Given the description of an element on the screen output the (x, y) to click on. 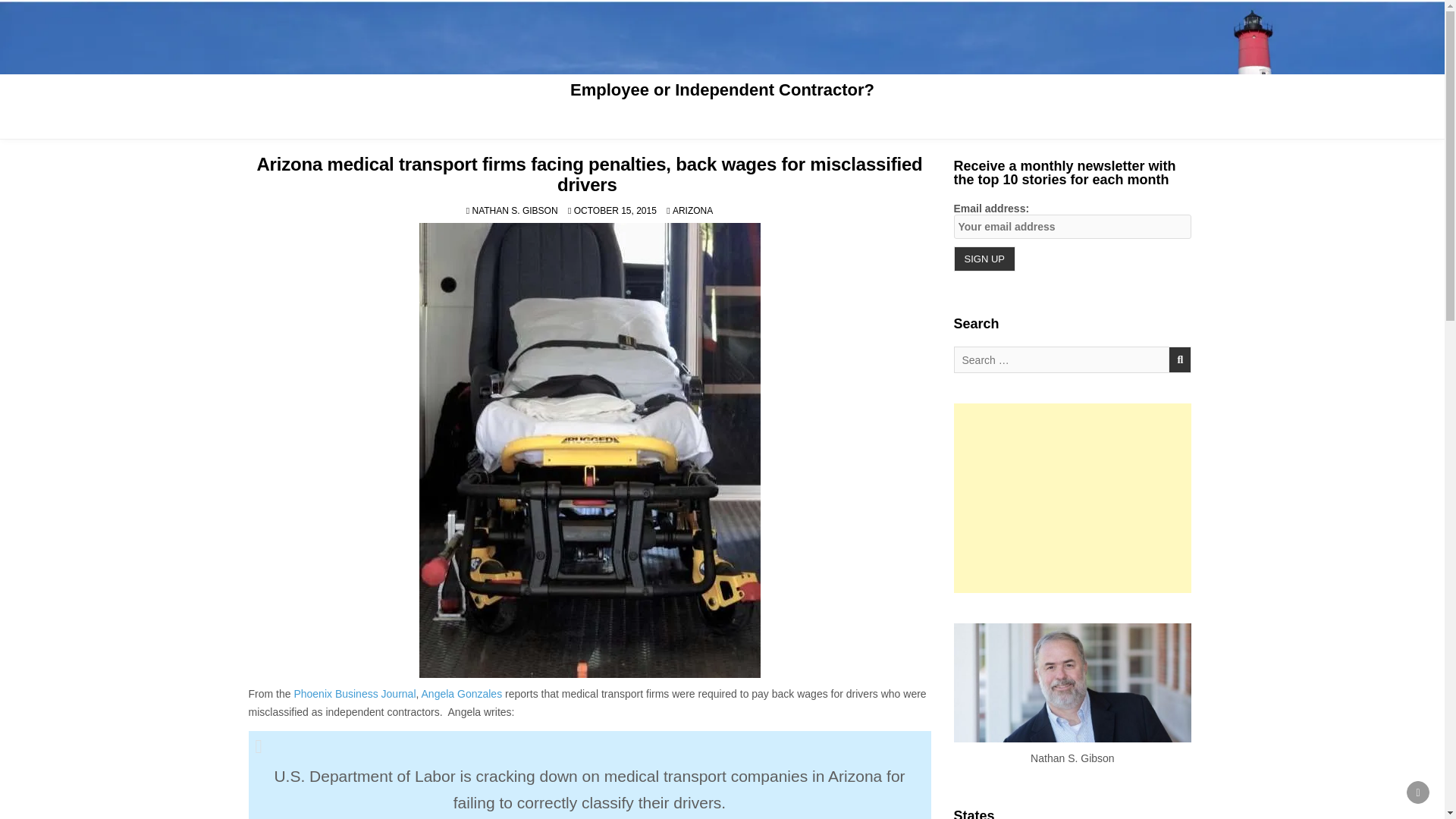
Employee or Independent Contractor? (722, 89)
NATHAN S. GIBSON (514, 210)
SCROLL TO TOP (1417, 792)
Scroll to Top (1417, 792)
Angela Gonzales (462, 693)
Sign up (983, 258)
Sign up (983, 258)
Phoenix Business Journal (354, 693)
ARIZONA (692, 210)
